Given the description of an element on the screen output the (x, y) to click on. 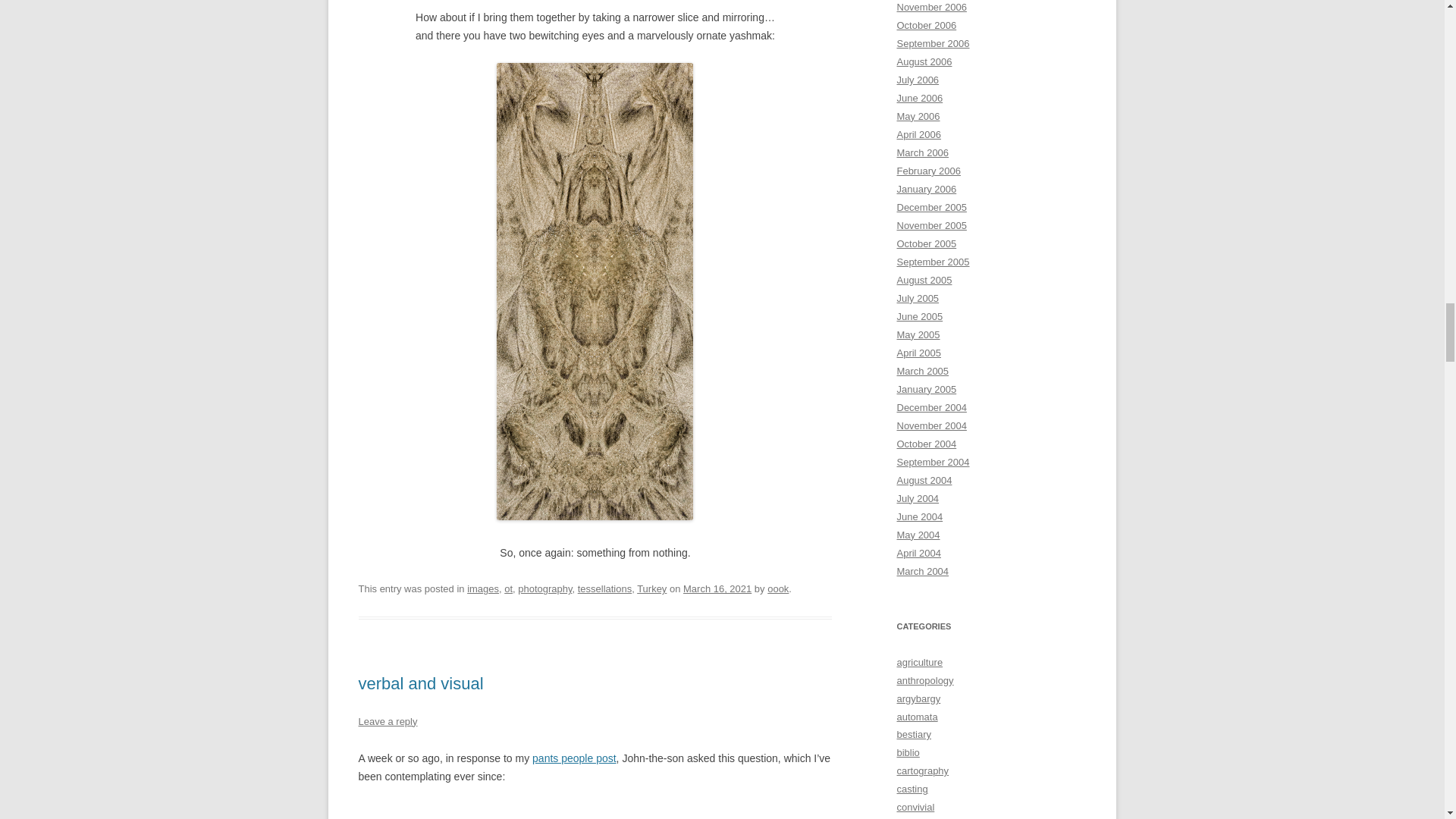
7:07 pm (716, 588)
Leave a reply (387, 721)
tessellations (604, 588)
March 16, 2021 (716, 588)
View all posts by oook (778, 588)
verbal and visual (420, 683)
images (483, 588)
Turkey (651, 588)
oook (778, 588)
photography (545, 588)
